Given the description of an element on the screen output the (x, y) to click on. 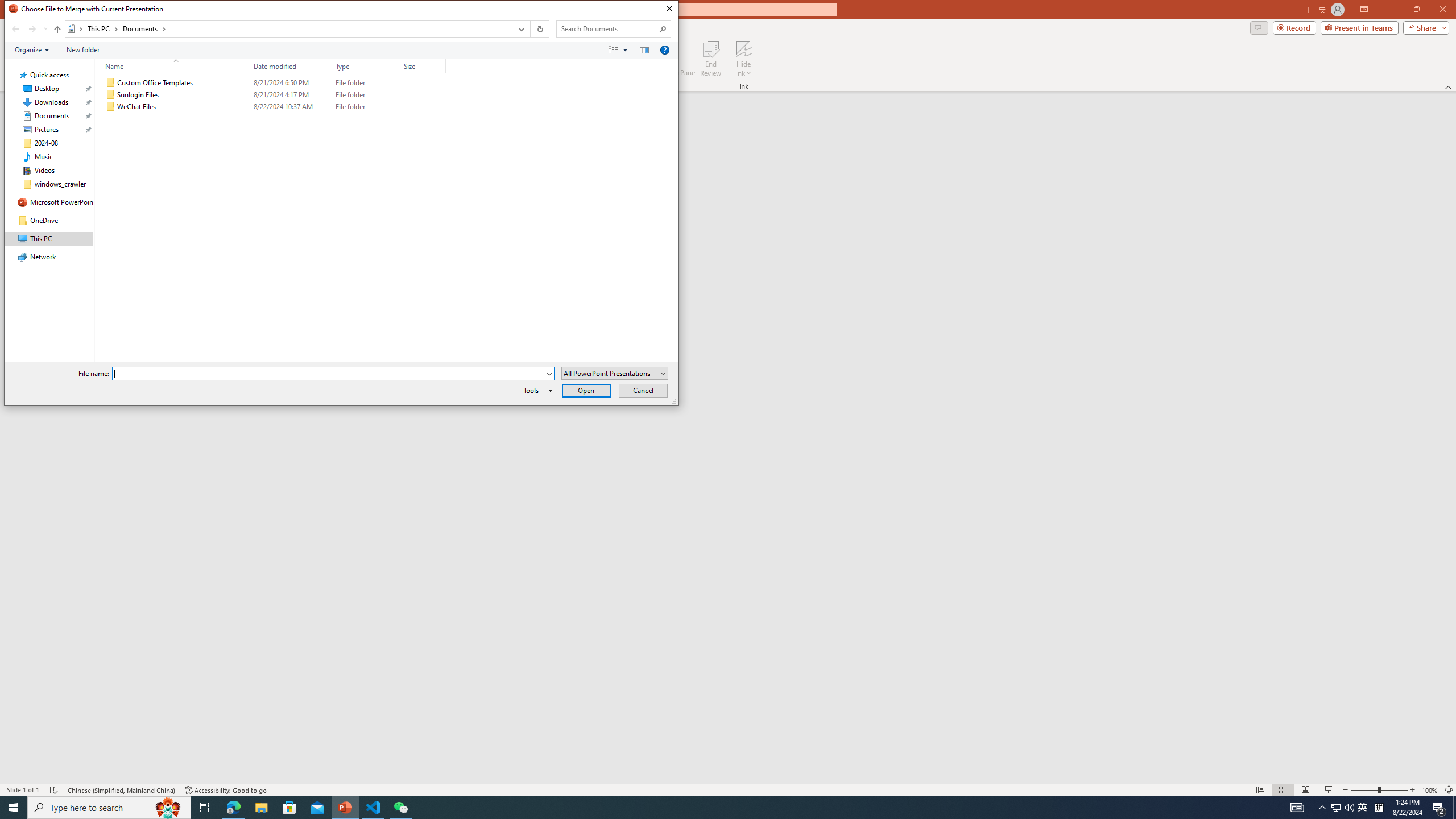
Action Center, 2 new notifications (1439, 807)
Microsoft Store (289, 807)
Show desktop (1454, 807)
Hide Ink (743, 48)
Accessibility Checker Accessibility: Good to go (226, 790)
WeChat Files (273, 106)
Up band toolbar (57, 30)
Zoom Out (1364, 790)
Previous Locations (520, 28)
&Help (664, 49)
Normal (1260, 790)
All locations (75, 28)
Tray Input Indicator - Chinese (Simplified, China) (1378, 807)
File name: (329, 373)
Search highlights icon opens search home window (167, 807)
